Given the description of an element on the screen output the (x, y) to click on. 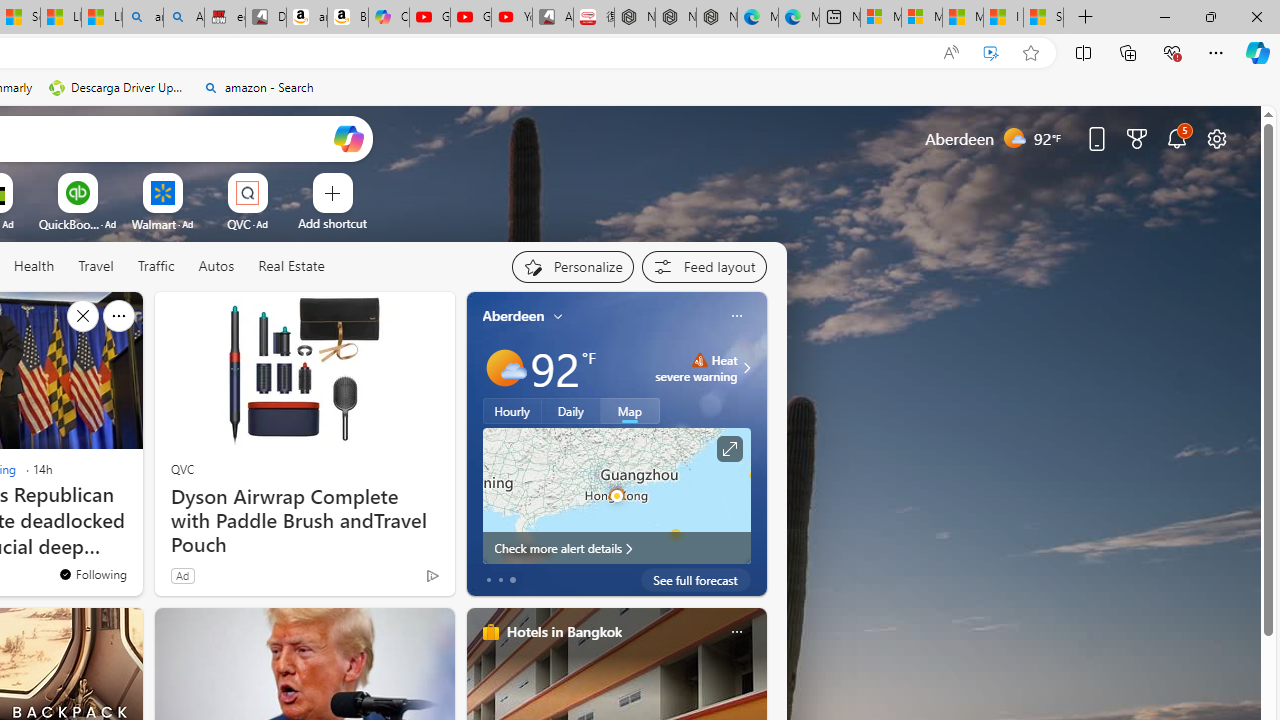
Open Copilot (347, 138)
I Gained 20 Pounds of Muscle in 30 Days! | Watch (1003, 17)
Microsoft account | Privacy (922, 17)
Dyson Airwrap Complete with Paddle Brush andTravel Pouch (304, 521)
Amazon Echo Dot PNG - Search Images (183, 17)
Hide this story (82, 315)
Heat - Severe (699, 359)
Mostly sunny (504, 368)
Settings and more (Alt+F) (1215, 52)
next (756, 443)
Autos (215, 265)
previous (476, 443)
